Given the description of an element on the screen output the (x, y) to click on. 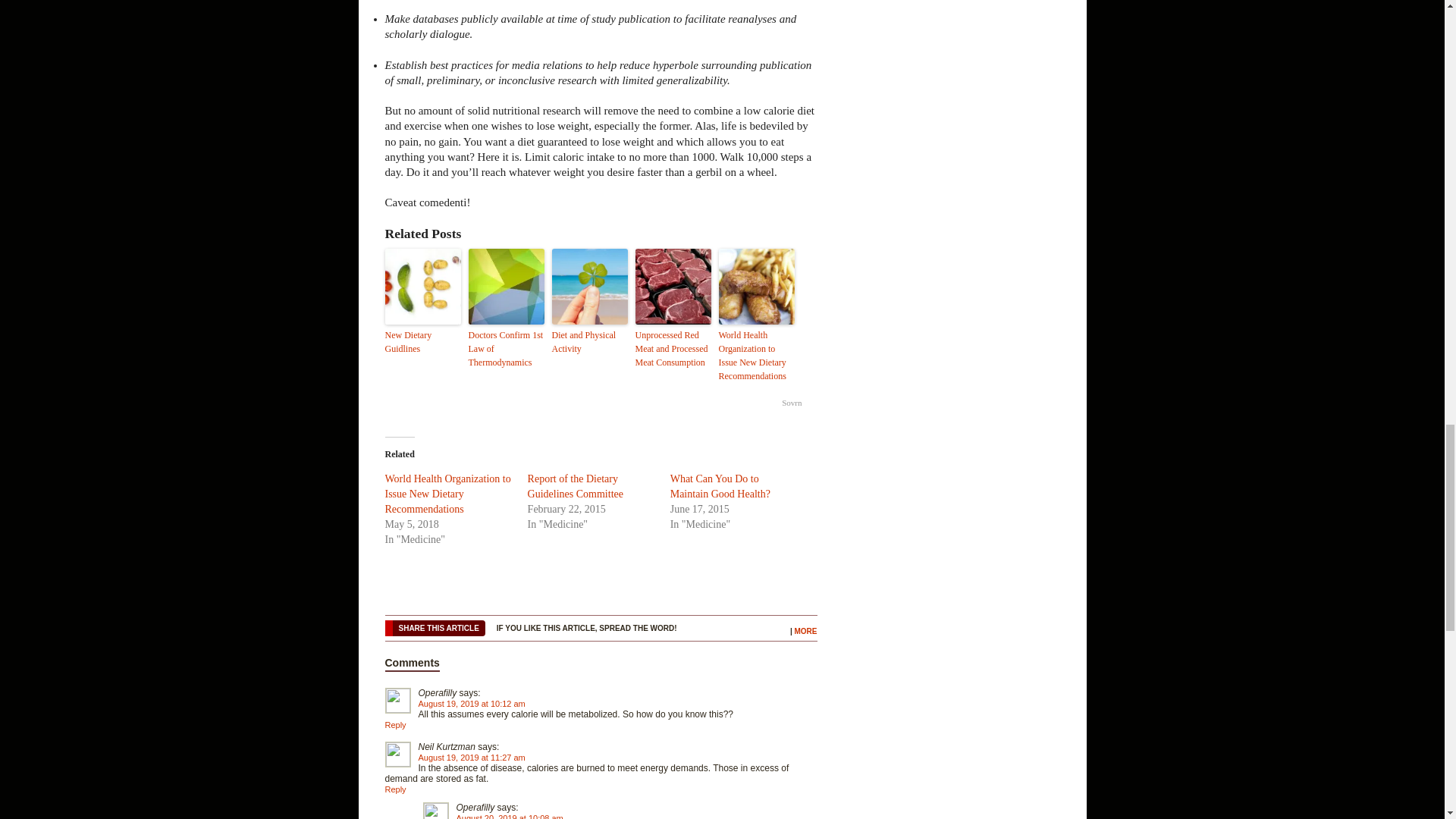
Unprocessed Red Meat and Processed Meat Consumption (672, 348)
Report of the Dietary Guidelines Committee (575, 486)
Reply (395, 724)
Diet and Physical Activity (589, 341)
Reply (395, 788)
Doctors Confirm 1st Law of Thermodynamics (506, 348)
August 19, 2019 at 10:12 am (472, 703)
Report of the Dietary Guidelines Committee (575, 486)
New Dietary Guidlines (423, 341)
August 20, 2019 at 10:08 am (510, 816)
Sovrn (791, 402)
What Can You Do to Maintain Good Health? (719, 486)
MORE (805, 631)
